Given the description of an element on the screen output the (x, y) to click on. 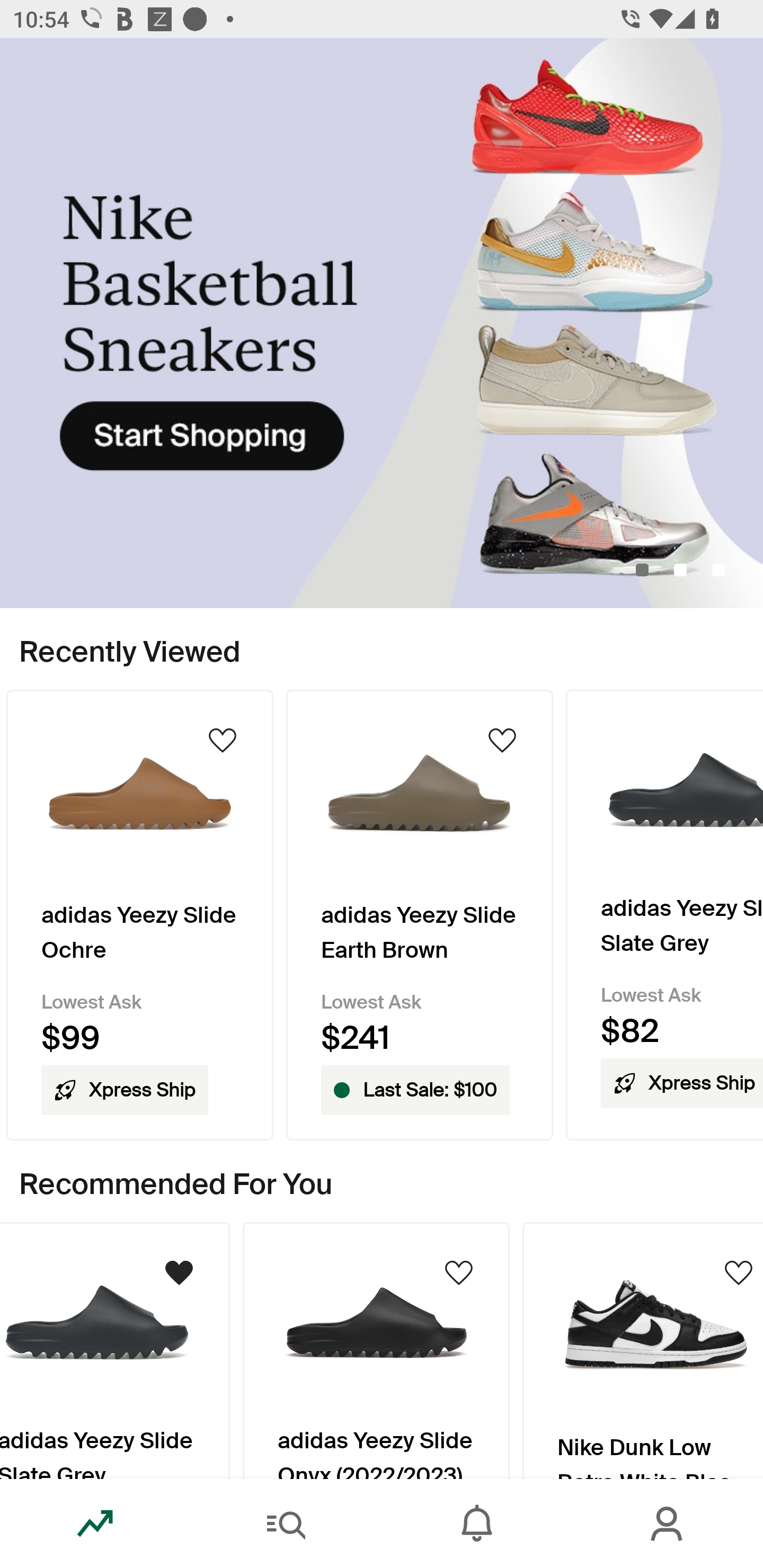
NikeBasketballSprint_Followup_Primary_Mobile.jpg (381, 322)
Product Image adidas Yeezy Slide Slate Grey (114, 1349)
Product Image adidas Yeezy Slide Onyx (2022/2023) (375, 1349)
Search (285, 1523)
Inbox (476, 1523)
Account (667, 1523)
